Given the description of an element on the screen output the (x, y) to click on. 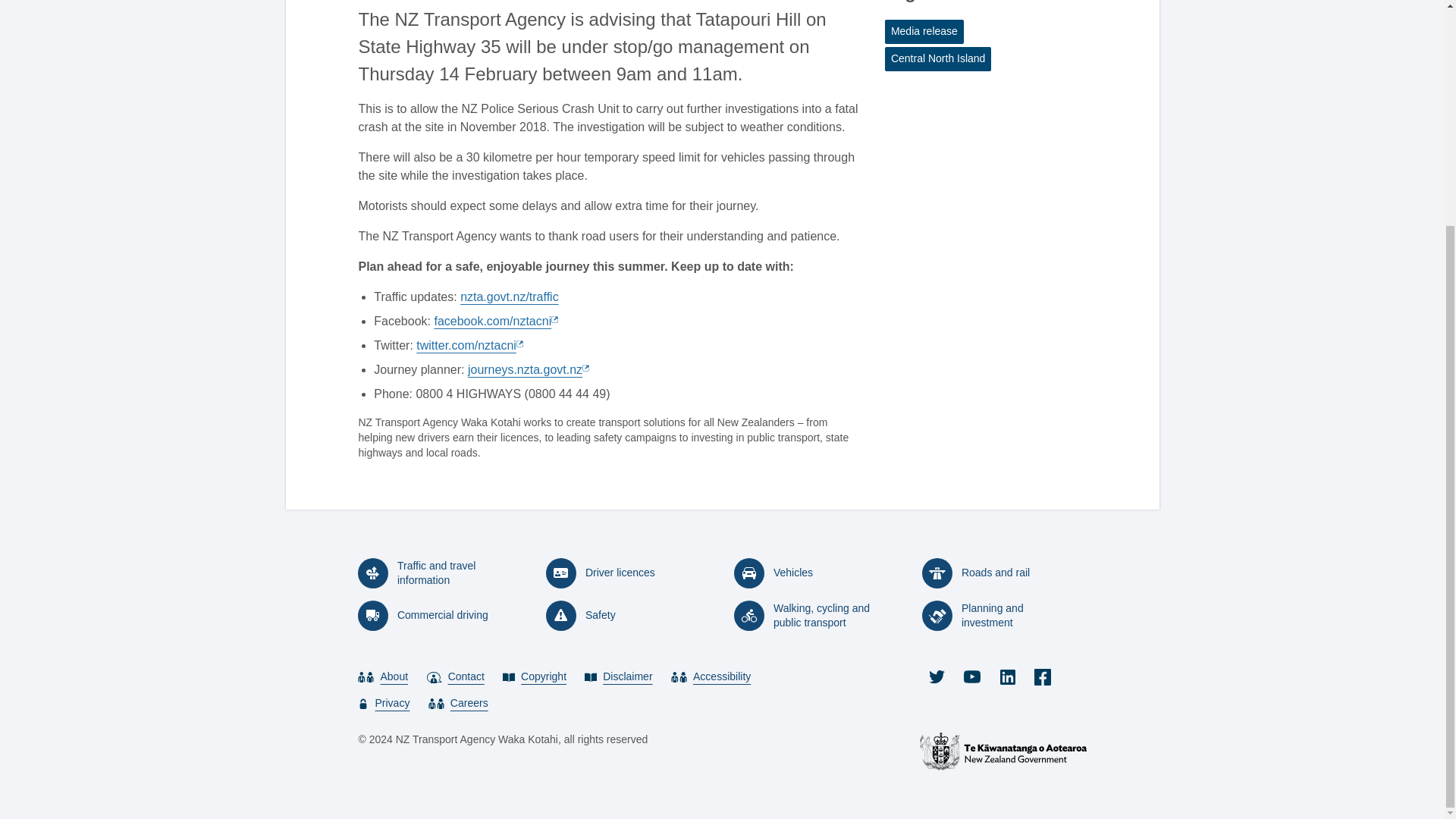
View all posts tagged 'Central North Island' (938, 58)
View all posts tagged 'Media release' (924, 31)
